Given the description of an element on the screen output the (x, y) to click on. 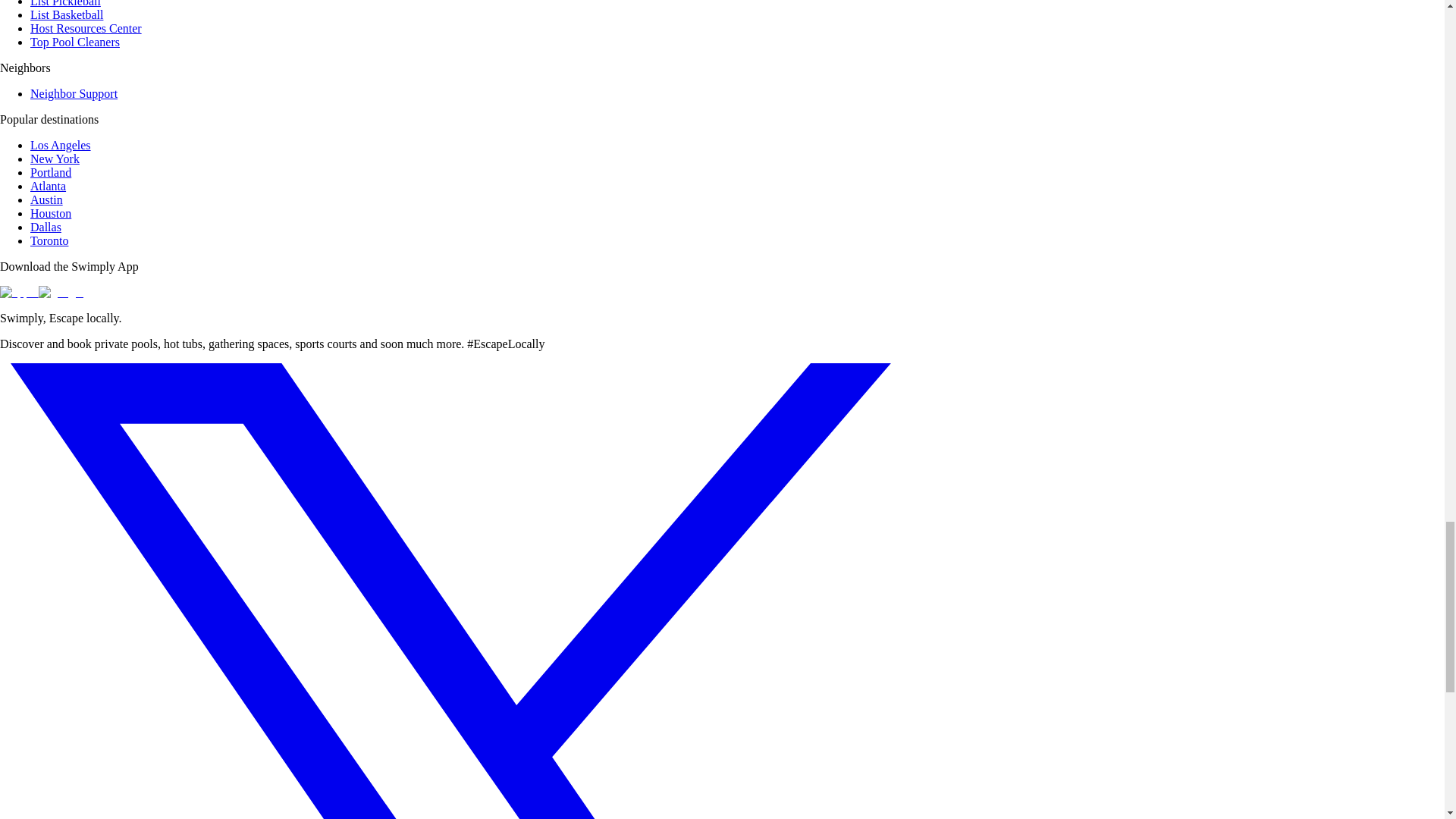
Top Pool Cleaners (74, 42)
Los Angeles (60, 144)
New York (55, 158)
List Basketball (66, 14)
List Pickleball (65, 3)
Neighbor Support (73, 92)
Host Resources Center (85, 28)
